Given the description of an element on the screen output the (x, y) to click on. 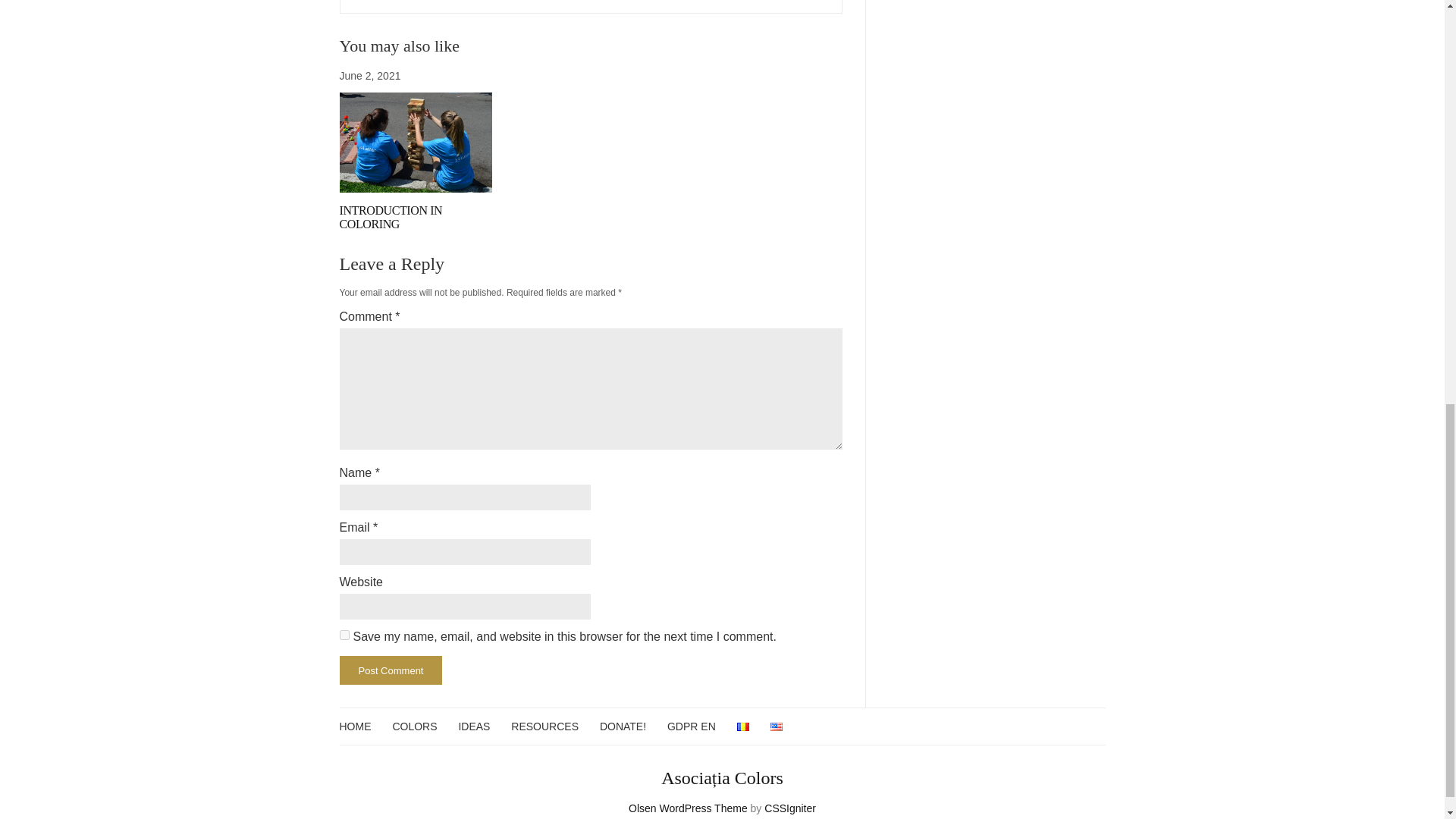
Blogging theme for WordPress (688, 808)
yes (344, 634)
Post Comment (390, 670)
